Given the description of an element on the screen output the (x, y) to click on. 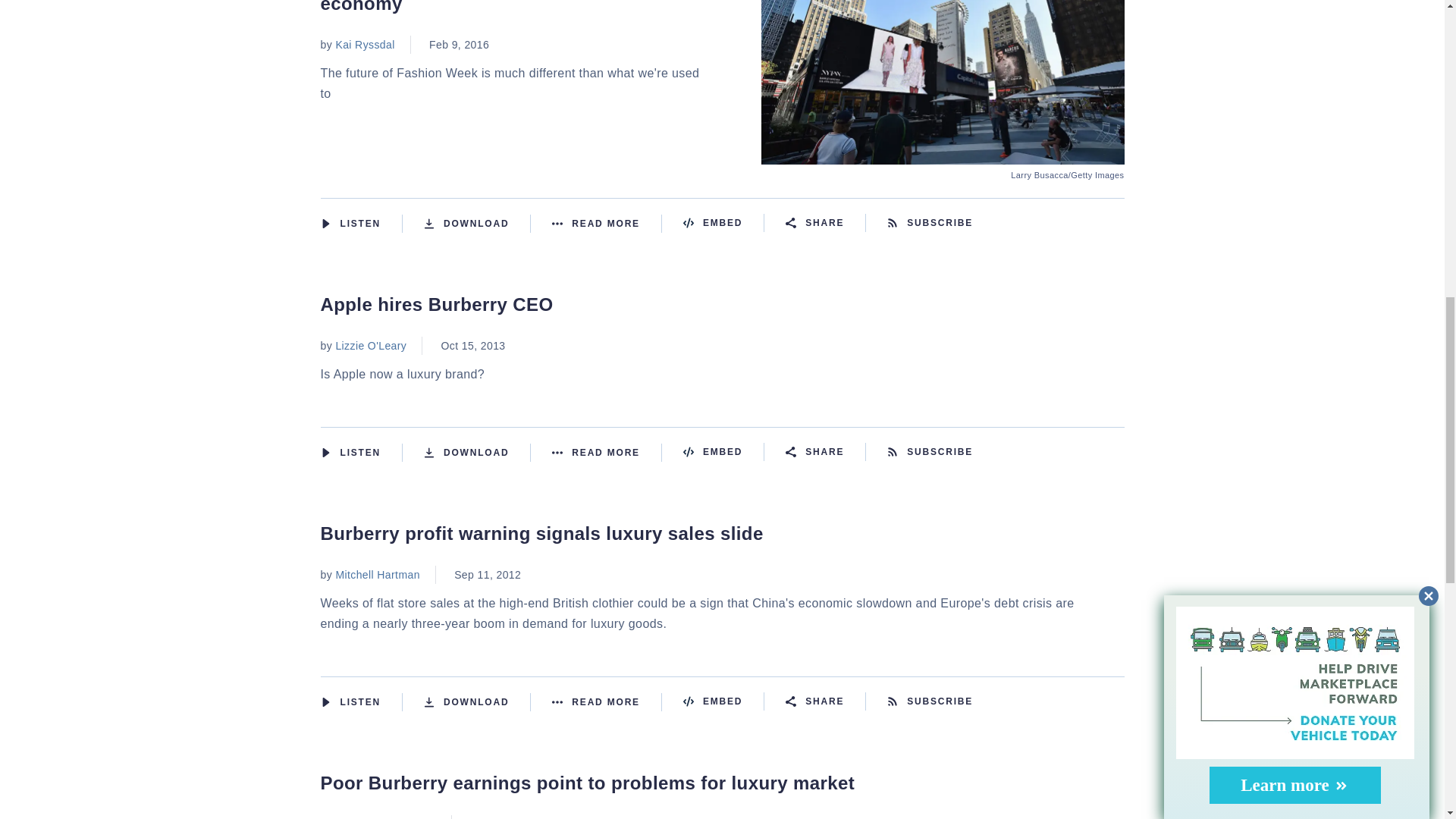
Fashion Week is adapting to a changing economy (942, 154)
Download (477, 223)
LISTEN (325, 452)
LISTEN (325, 223)
Download (477, 452)
Read More (606, 223)
Listen Now (360, 452)
Read More (606, 452)
Listen Now (360, 223)
